Given the description of an element on the screen output the (x, y) to click on. 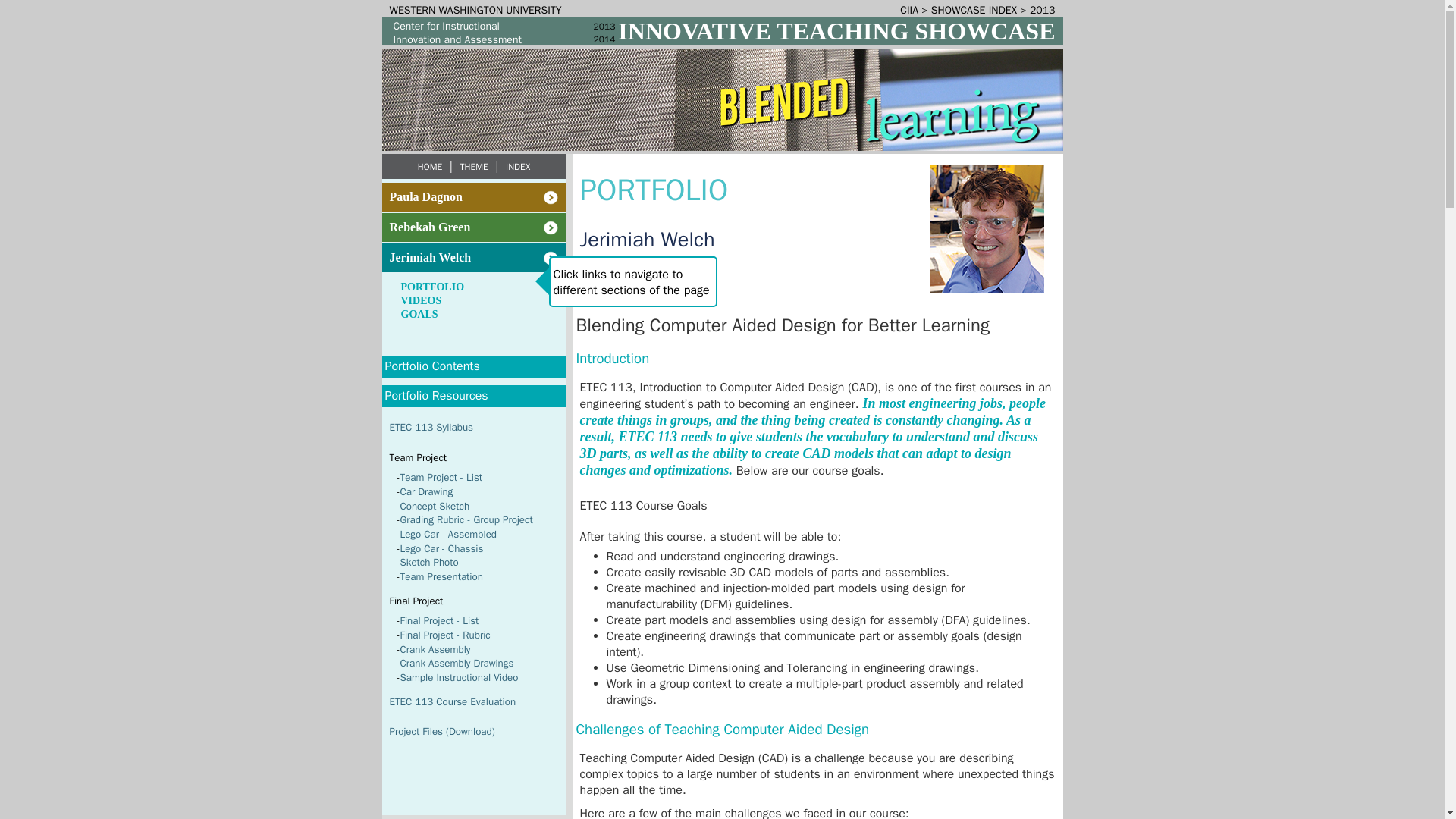
Crank Assembly (435, 649)
Grading Rubric - Group Project (466, 519)
2013 (1042, 10)
ETEC 113 Course Evaluation (453, 700)
INDEX (517, 166)
Final Project - List (439, 620)
Team Project - List (441, 477)
PORTFOLIO (432, 286)
SHOWCASE INDEX (973, 10)
Crank Assembly Drawings (456, 662)
Team Presentation (441, 576)
Sample Instructional Video (459, 676)
GOALS (419, 314)
Sketch Photo (429, 562)
Lego Car - Chassis (441, 548)
